Given the description of an element on the screen output the (x, y) to click on. 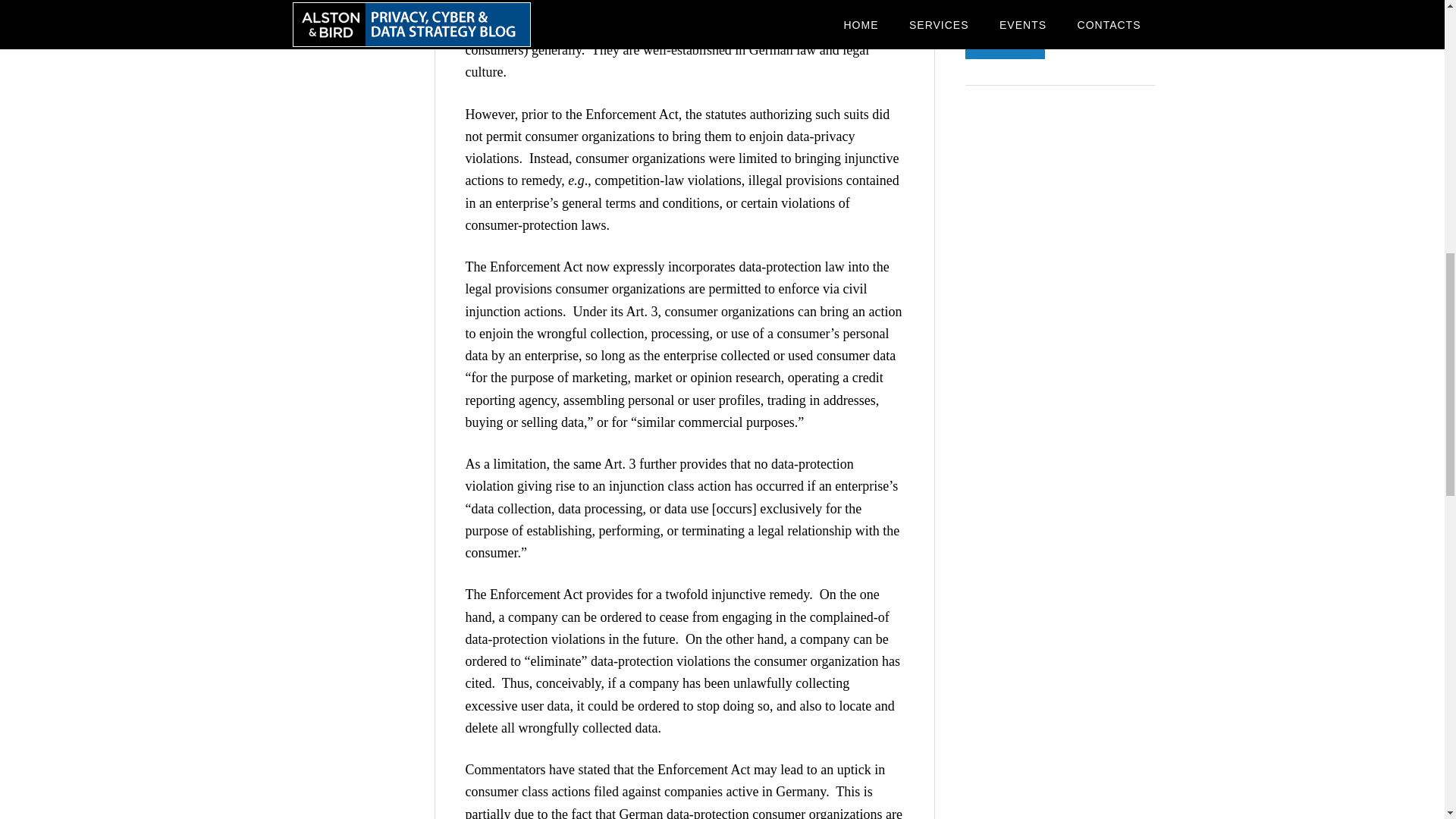
Click here (1081, 16)
